Given the description of an element on the screen output the (x, y) to click on. 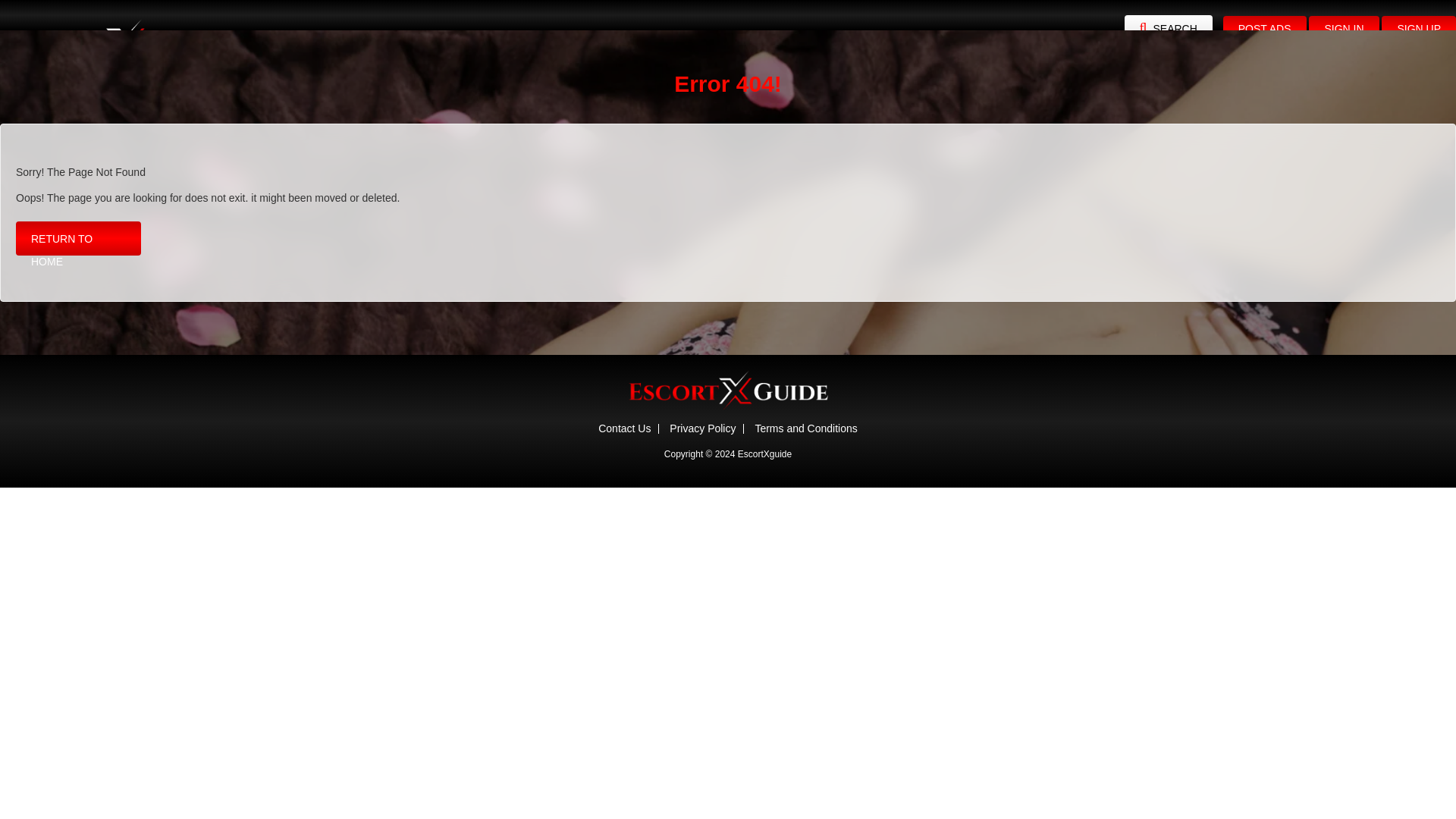
Privacy Policy (702, 428)
RETURN TO HOME (78, 238)
SIGN IN (1343, 28)
Terms and Conditions (805, 428)
EscortXguide (765, 453)
SEARCH (1168, 28)
POST ADS (1264, 28)
Contact Us (624, 428)
